Given the description of an element on the screen output the (x, y) to click on. 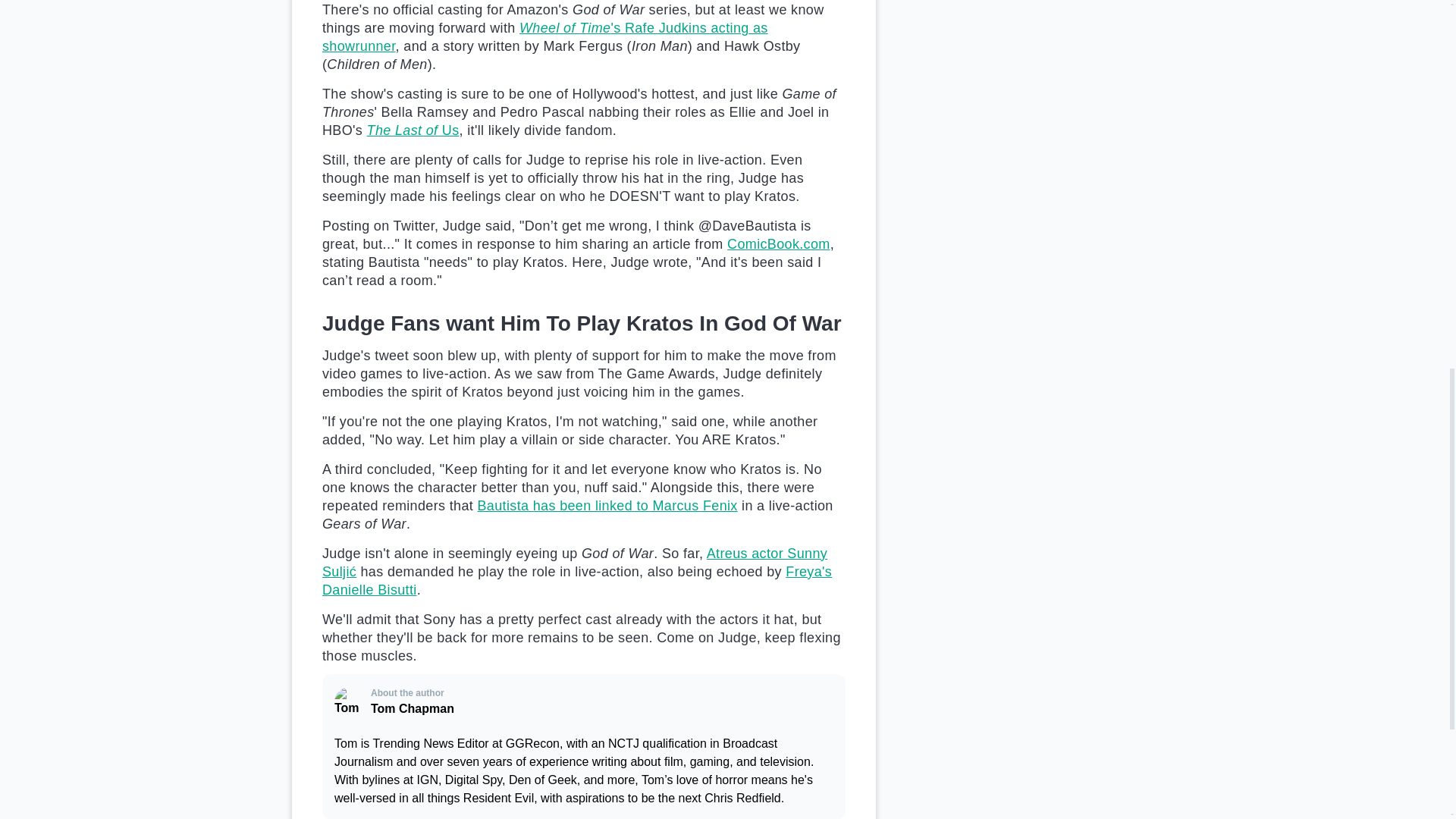
Tom Chapman (349, 702)
Gears Of War Creator Circling Dave Bautista For Netflix Film (607, 505)
The Last of Us (413, 130)
God Of War Series Lands Showrunner At Amazon (544, 37)
